Given the description of an element on the screen output the (x, y) to click on. 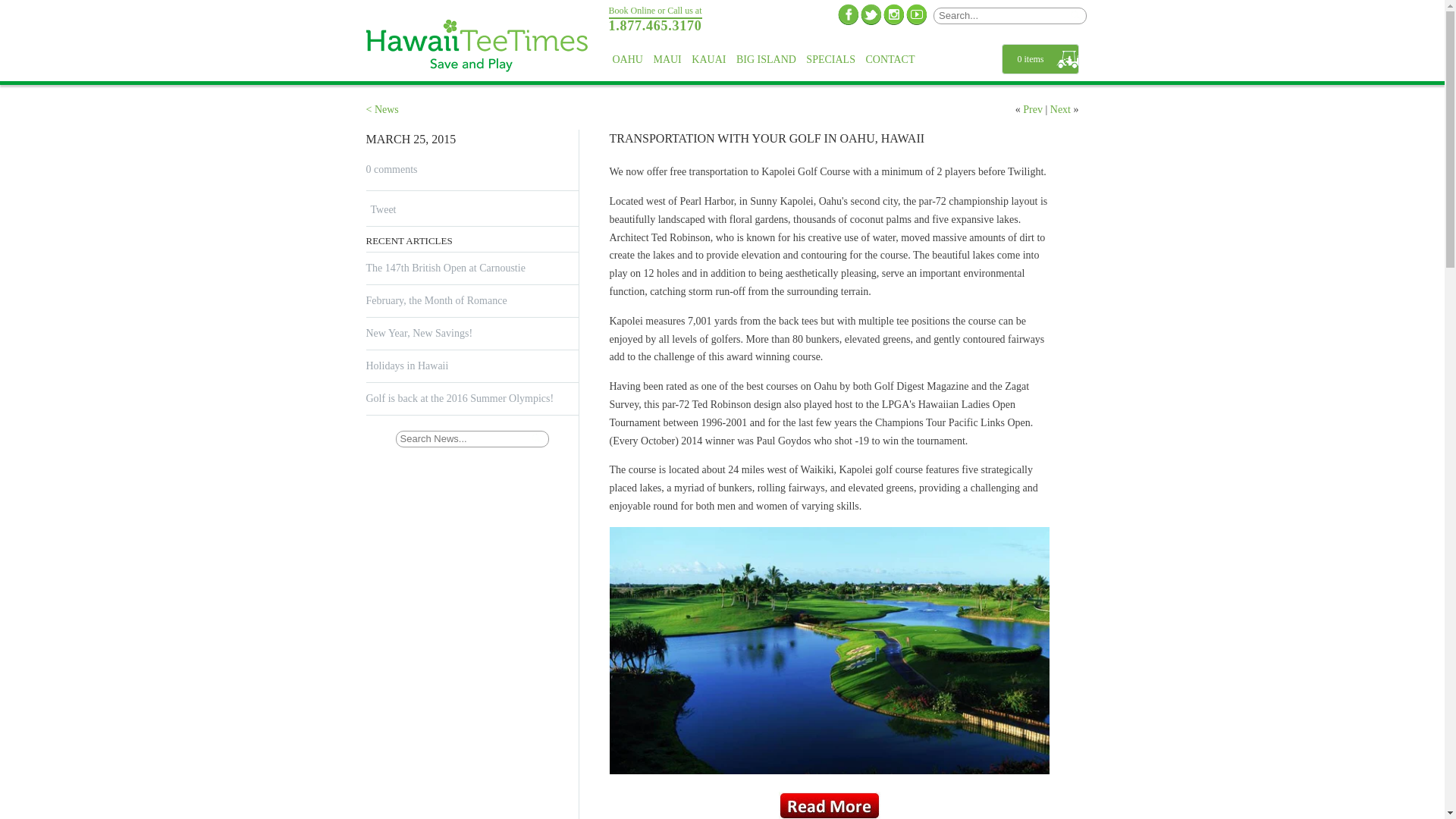
OAHU (627, 59)
0 items (1039, 59)
Hawaii Tee Times (478, 48)
Hawaii Tee Times on Facebook (848, 14)
Oahu (627, 59)
Hawaii Tee Times on YouTube (915, 14)
Hawaii Tee Times on Twitter (870, 14)
Cart (1039, 59)
Hawaii Tee Times on Instagram (893, 14)
MAUI (666, 59)
